Given the description of an element on the screen output the (x, y) to click on. 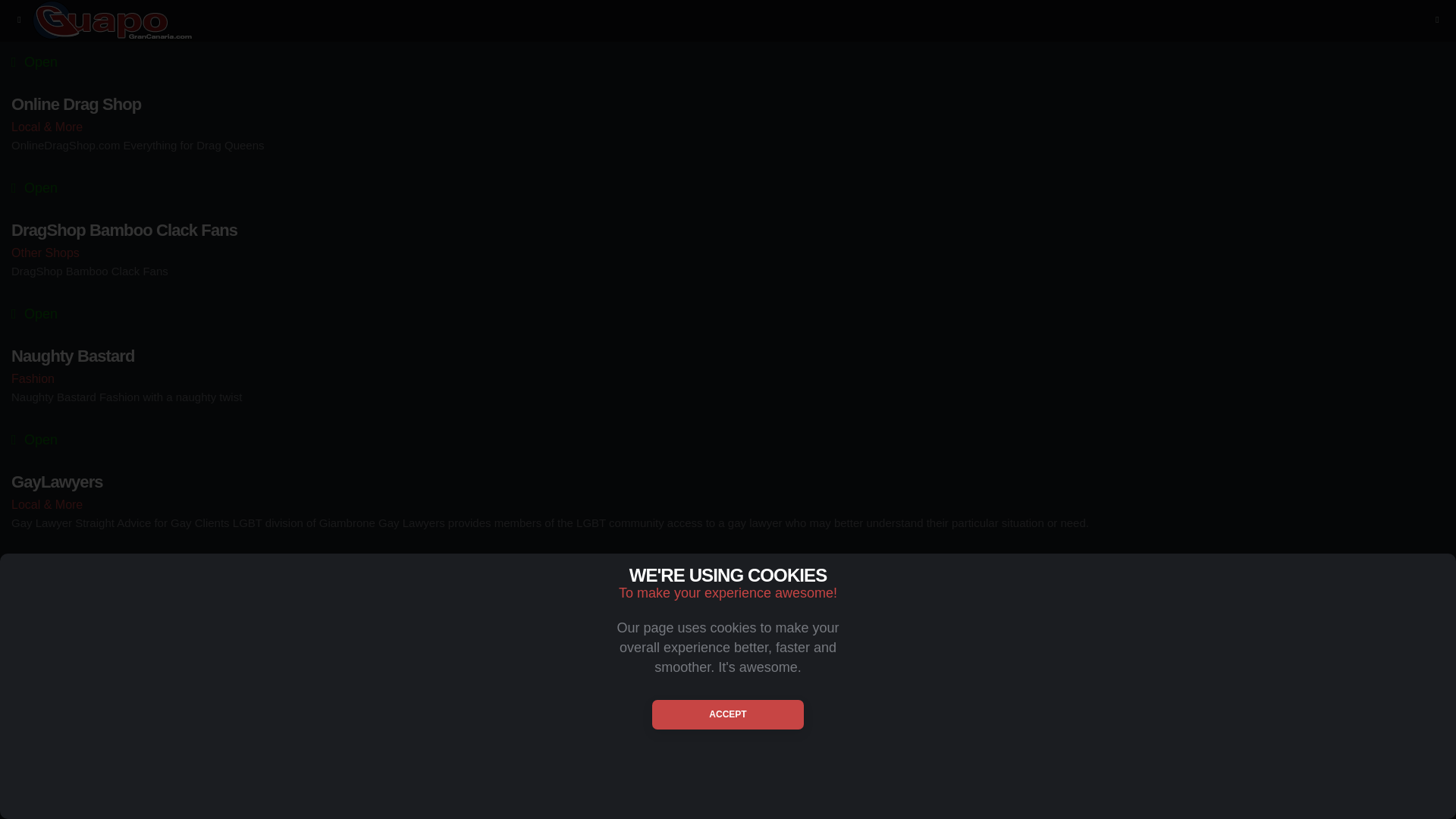
Naughty Bastard (727, 356)
DragShop Bamboo Clack Fans (727, 230)
Internet (727, 630)
Online Drag Shop (727, 104)
DragShop Bamboo Clack Fans (727, 271)
GayLawyers (727, 482)
Naughty Bastard Fashion with a naughty twist (727, 397)
OnlineDragShop.com Everything for Drag Queens (727, 145)
DragVids www.DragVids.com (727, 19)
Other Shops (727, 252)
Fashion (727, 378)
Gran Canaria Buy and Sell (727, 608)
Gran Canaria Buy Sell all you need second hand (727, 649)
